Given the description of an element on the screen output the (x, y) to click on. 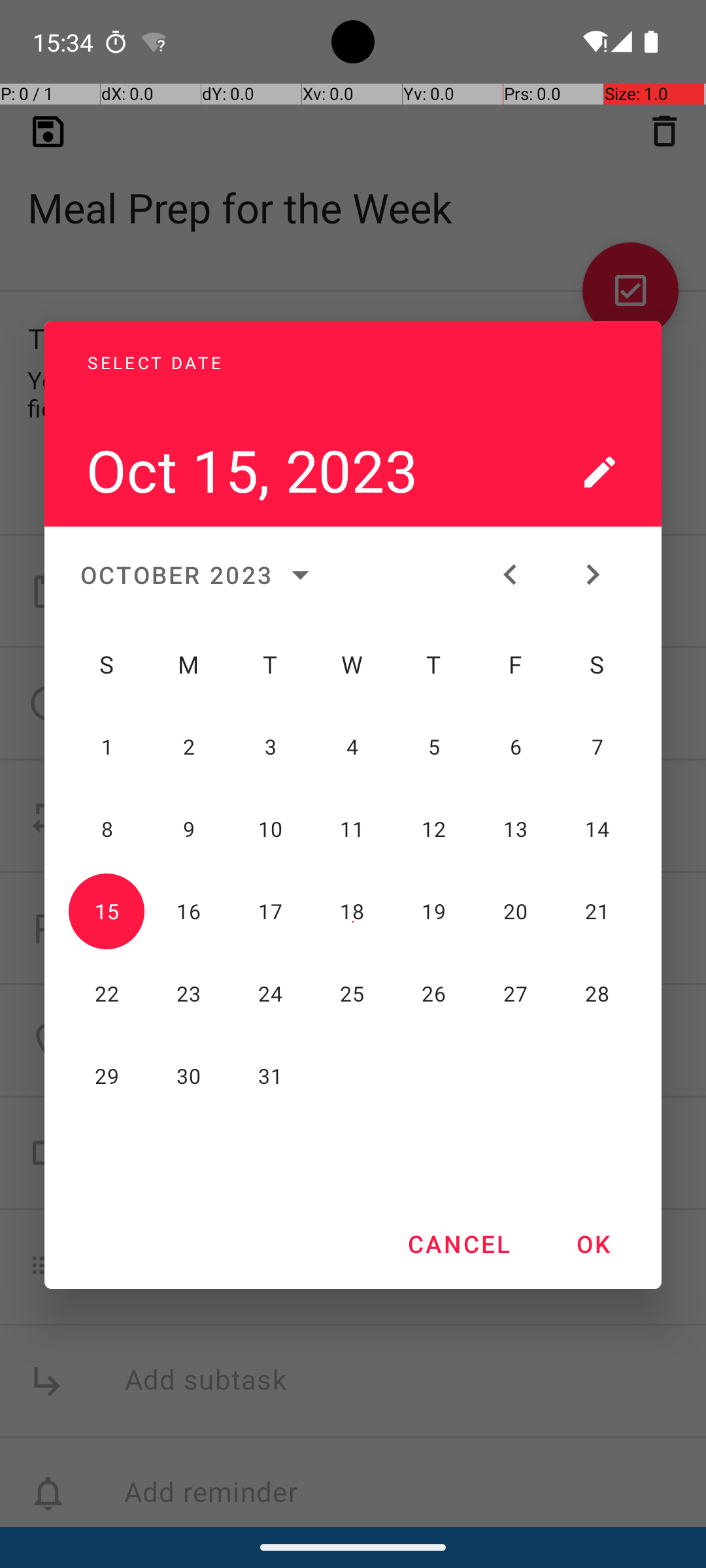
Switch to text input mode Element type: android.widget.ImageButton (599, 471)
OCTOBER 2023 Element type: android.widget.Button (199, 574)
Change to previous month Element type: android.widget.Button (516, 574)
Change to next month Element type: android.widget.Button (599, 574)
Oct 15, 2023 Element type: android.widget.TextView (322, 414)
SELECT DATE Element type: android.widget.TextView (322, 347)
